Given the description of an element on the screen output the (x, y) to click on. 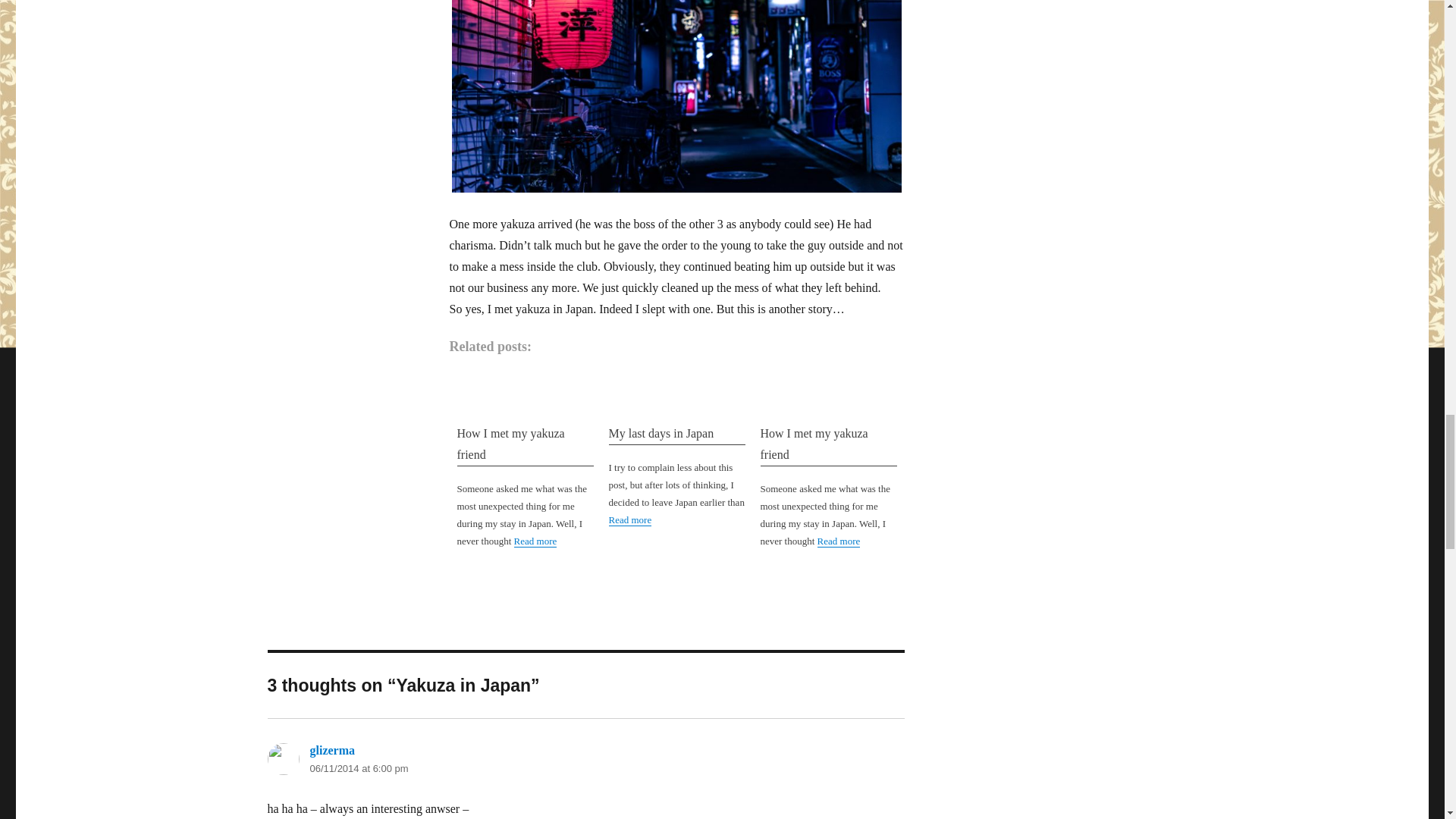
How I met my yakuza friend (828, 444)
Read more (629, 519)
Read more (838, 541)
Read more (535, 541)
How I met my yakuza friend (524, 444)
My last days in Japan (676, 433)
